Given the description of an element on the screen output the (x, y) to click on. 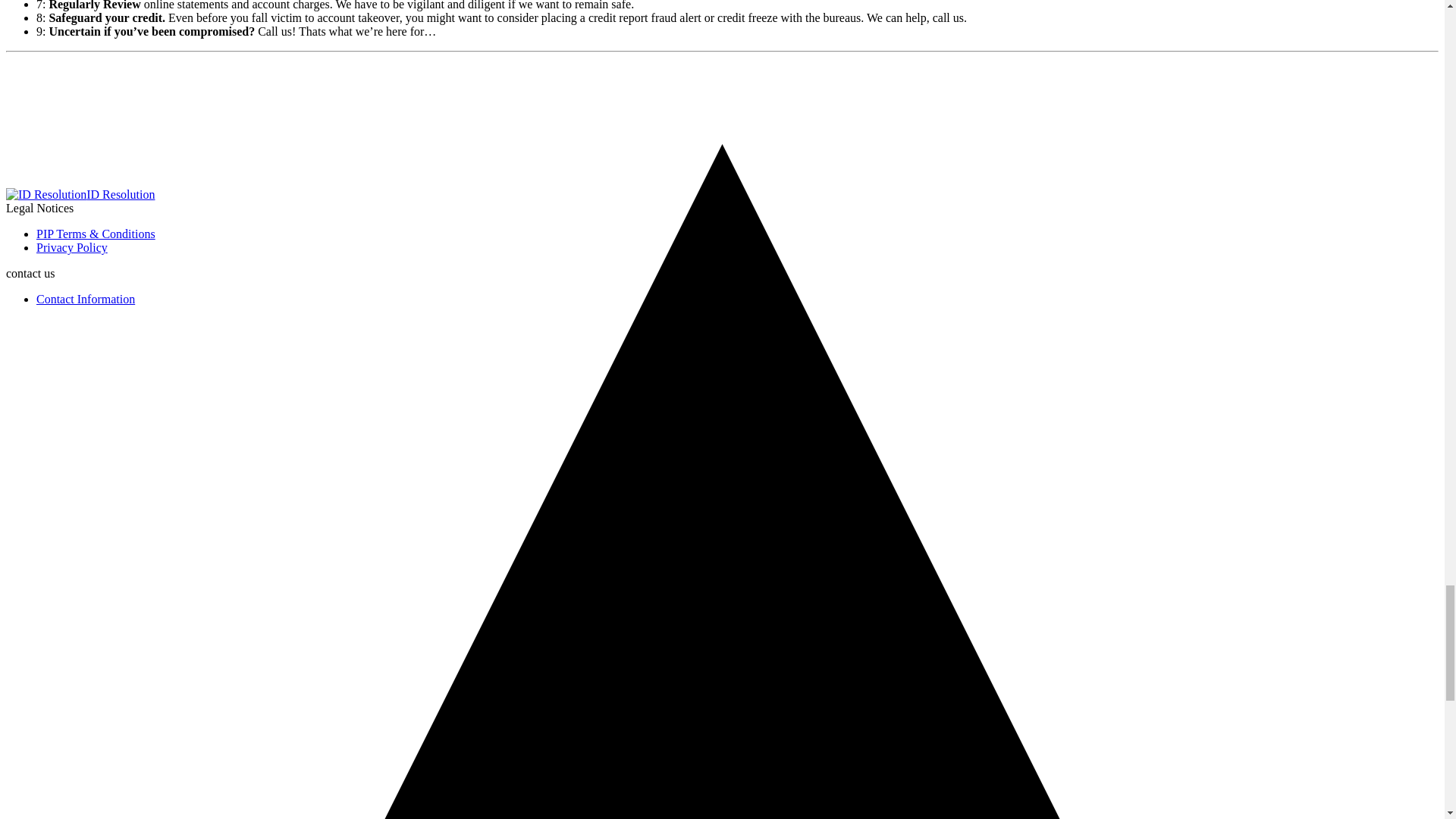
ID Resolution (119, 194)
Contact Information (85, 298)
Privacy Policy (71, 246)
